Given the description of an element on the screen output the (x, y) to click on. 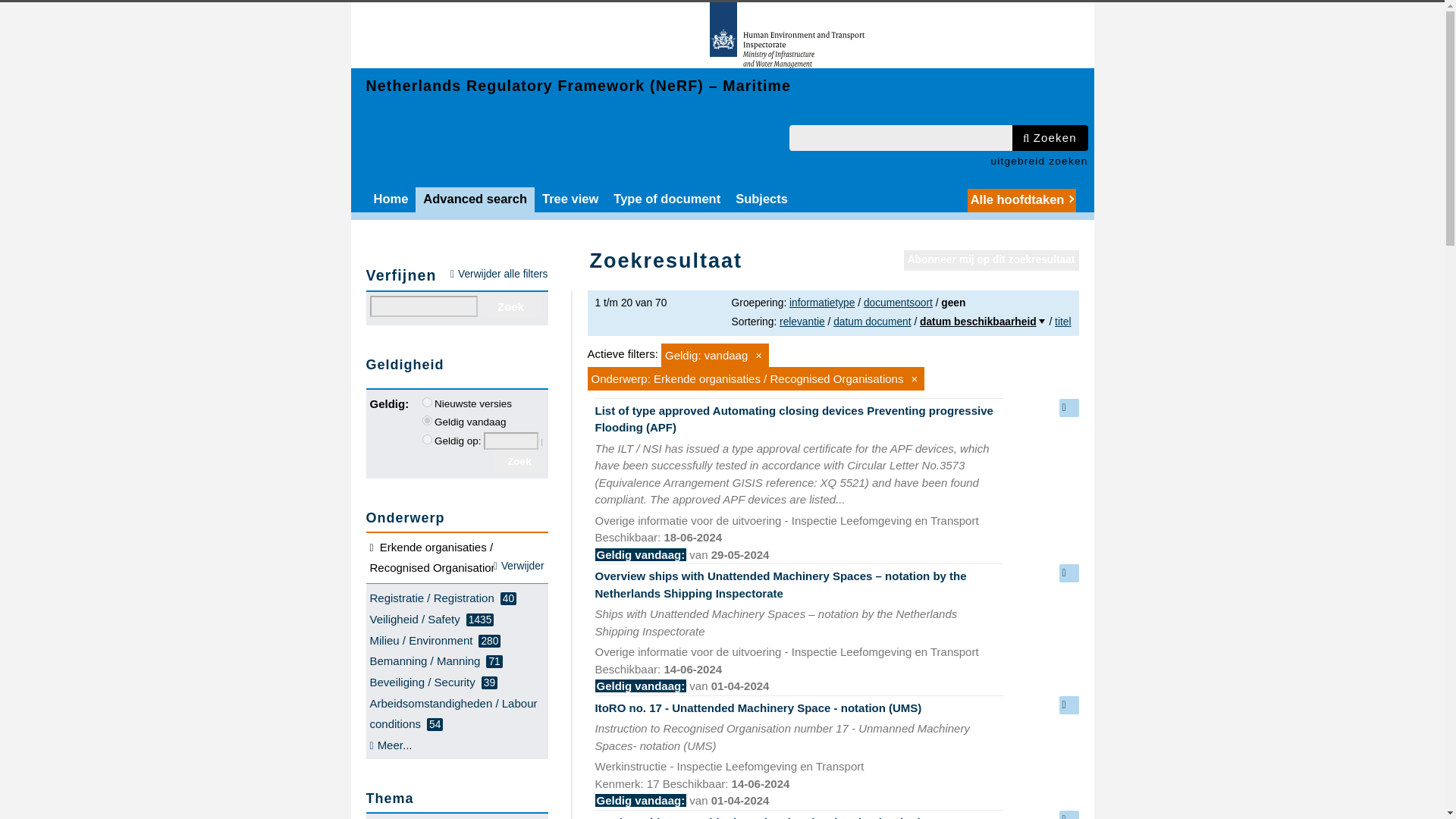
Zoek (510, 306)
Tree view (569, 199)
Sorteer oplopend op datum beschikbaarheid (983, 321)
Subjects (761, 199)
Toon samenvatting (1068, 407)
samenvatting (1068, 705)
Toon samenvatting (1068, 573)
Vul 1 of 2 woorden in (900, 137)
uitgebreid zoeken (1038, 160)
Toon samenvatting (1068, 814)
Type of document (666, 199)
Sorteer aflopend op relevantie (801, 321)
Zoek (510, 306)
Abonneer mij op dit zoekresultaat (991, 260)
samenvatting (1068, 407)
